Given the description of an element on the screen output the (x, y) to click on. 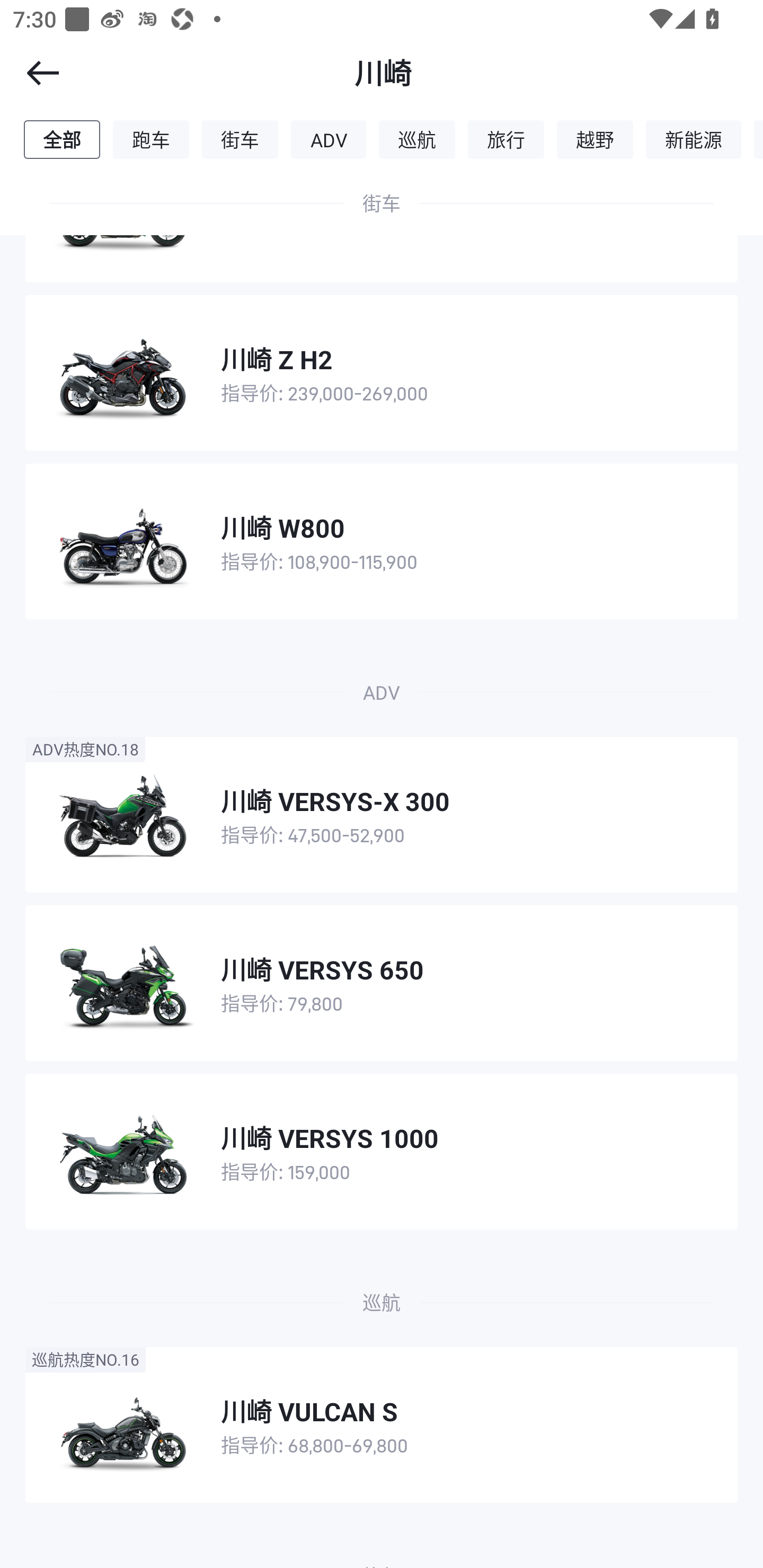
 (30, 72)
全部 (61, 139)
跑车 (150, 139)
街车 (240, 139)
ADV (328, 139)
巡航 (417, 139)
旅行 (505, 139)
越野 (594, 139)
新能源 (693, 139)
川崎 Z H2 指导价: 239,000-269,000 (381, 372)
川崎 W800 指导价: 108,900-115,900 (381, 541)
ADV热度NO.18 川崎 VERSYS-X 300 指导价: 47,500-52,900 (381, 814)
ADV热度NO.18 (84, 749)
川崎 VERSYS 650 指导价: 79,800 (381, 982)
川崎 VERSYS 1000 指导价: 159,000 (381, 1151)
巡航热度NO.16 川崎 VULCAN S 指导价: 68,800-69,800 (381, 1424)
巡航热度NO.16 (85, 1359)
